Given the description of an element on the screen output the (x, y) to click on. 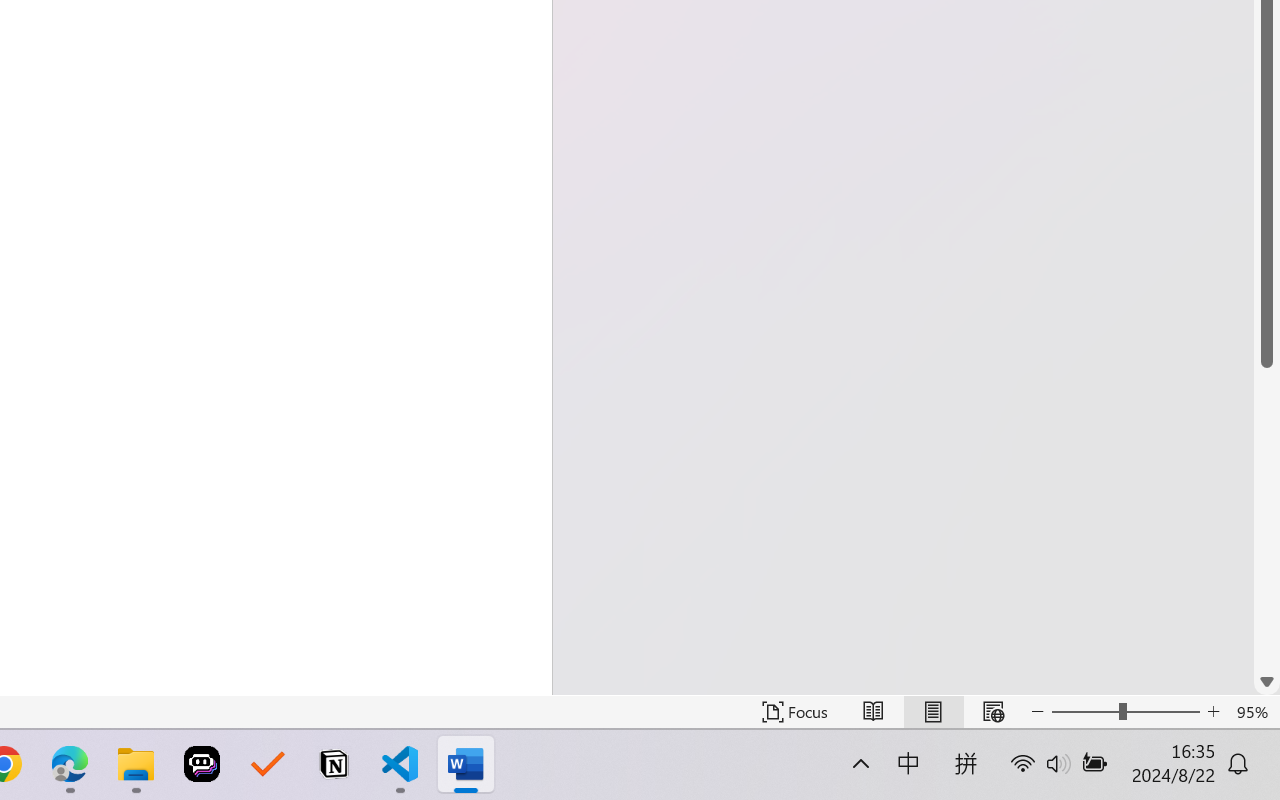
Page down (1267, 518)
Line down (1267, 681)
Zoom 95% (1253, 712)
